Given the description of an element on the screen output the (x, y) to click on. 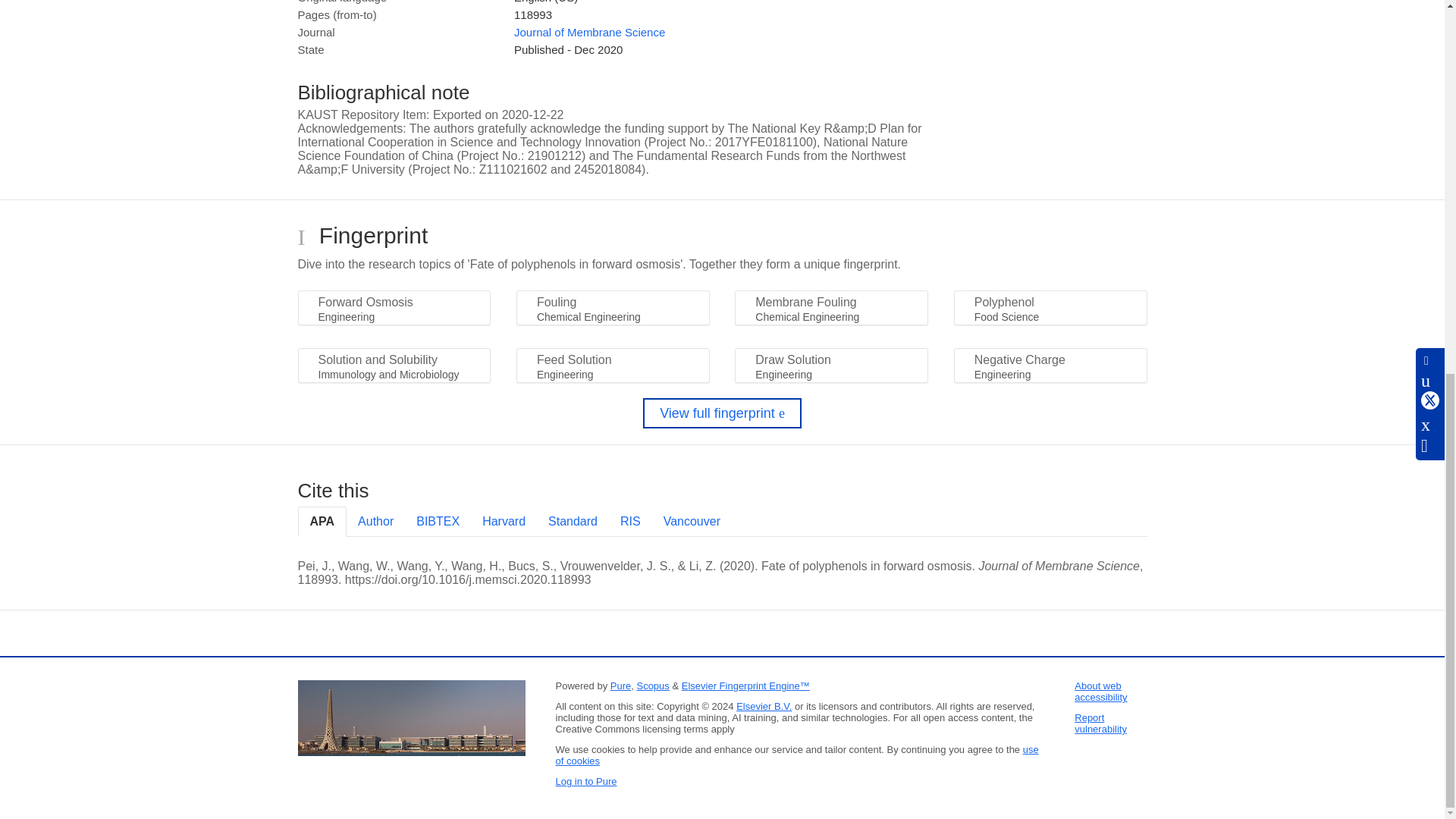
Journal of Membrane Science (589, 31)
View full fingerprint (722, 413)
